Given the description of an element on the screen output the (x, y) to click on. 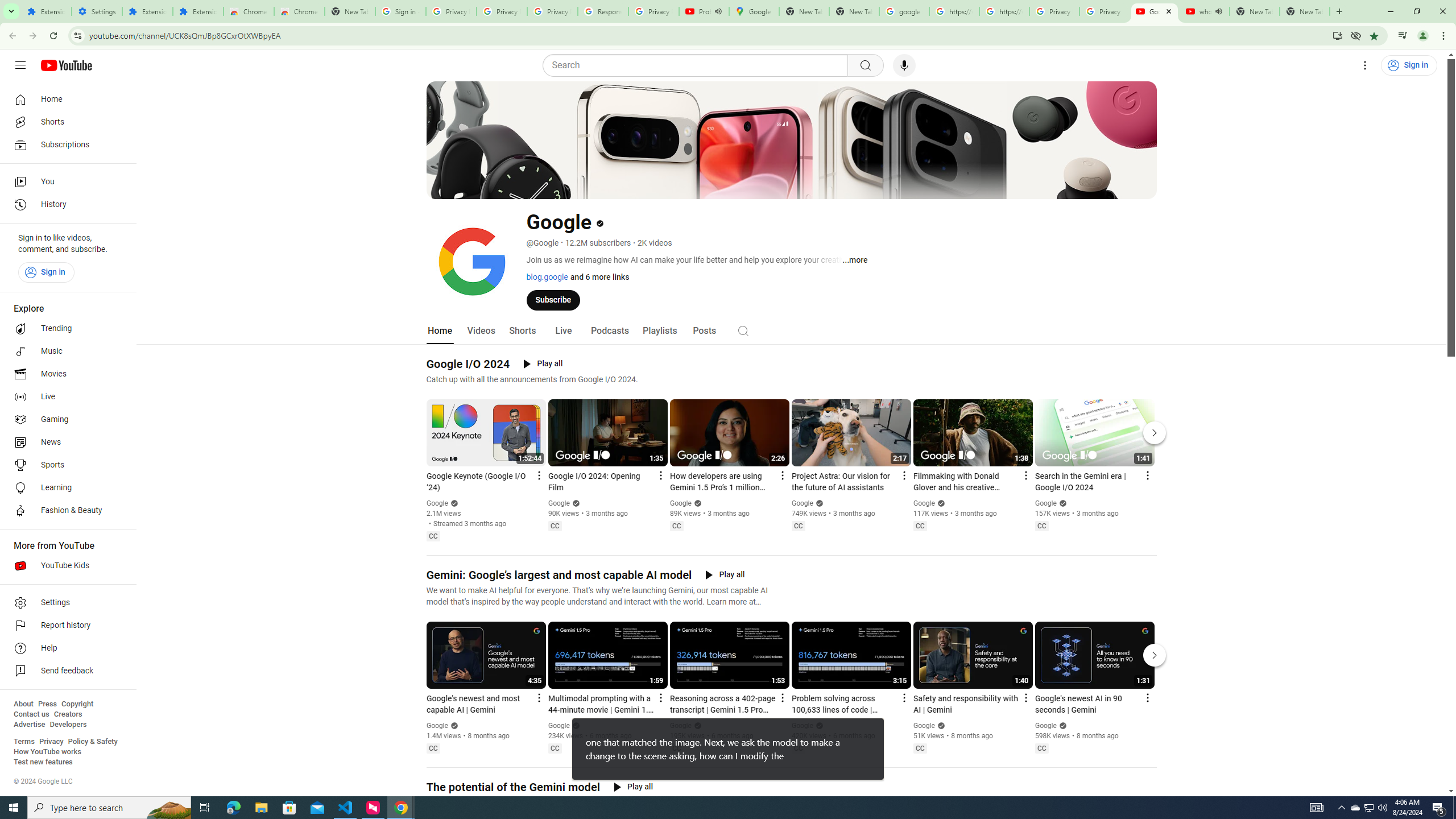
Podcasts (608, 330)
Shorts (521, 330)
Search tabs (10, 11)
New Tab (1304, 11)
How YouTube works (47, 751)
Settings (97, 11)
Verified (1061, 725)
Playlists (659, 330)
Home (440, 330)
Press (46, 703)
